Given the description of an element on the screen output the (x, y) to click on. 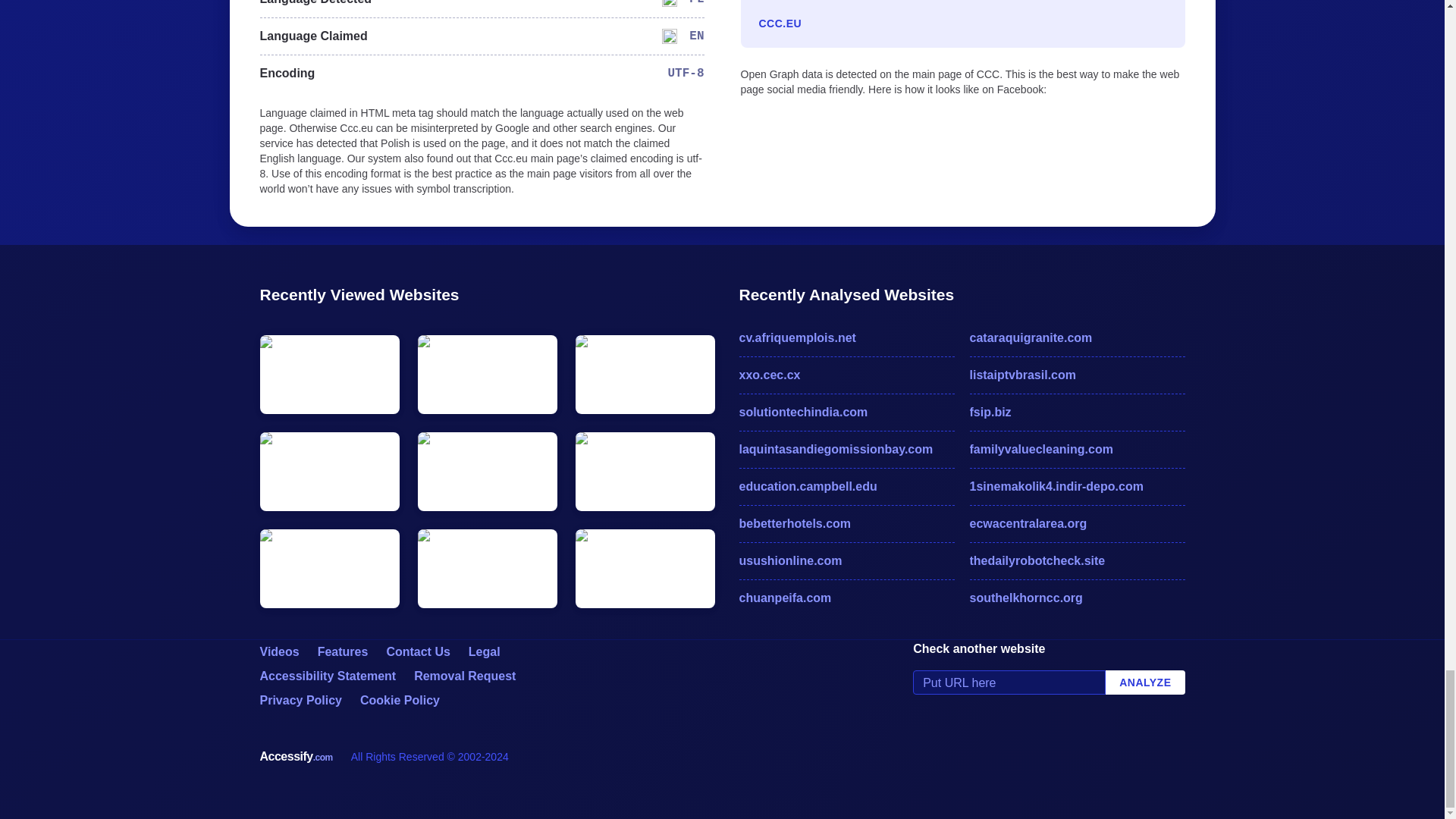
Screencasts: video tutorials and guides (278, 651)
usushionline.com (845, 561)
laquintasandiegomissionbay.com (845, 449)
cv.afriquemplois.net (845, 338)
Videos (278, 651)
xxo.cec.cx (845, 375)
chuanpeifa.com (845, 597)
Legal (484, 651)
education.campbell.edu (845, 486)
1sinemakolik4.indir-depo.com (1077, 486)
solutiontechindia.com (845, 412)
Contact Us (417, 651)
thedailyrobotcheck.site (1077, 561)
listaiptvbrasil.com (1077, 375)
